Given the description of an element on the screen output the (x, y) to click on. 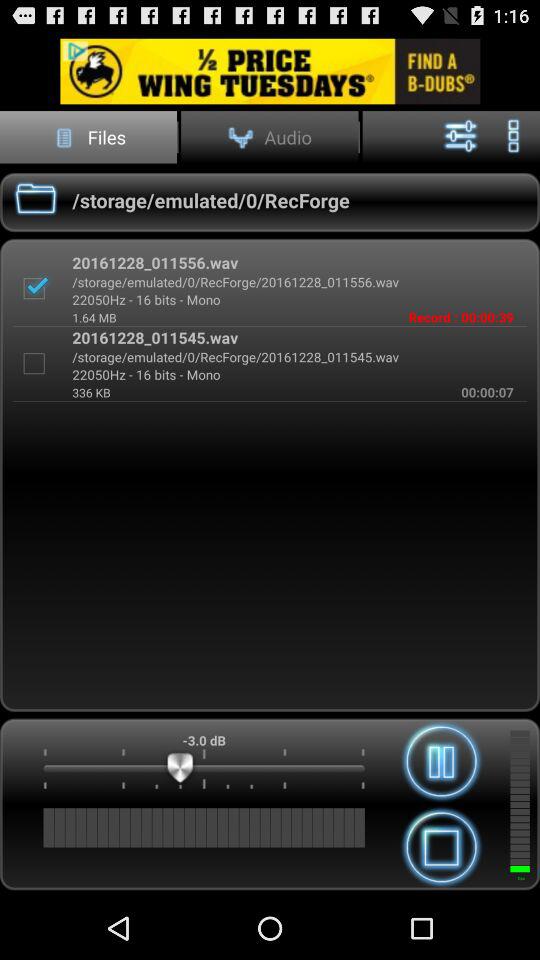
advertismend (270, 70)
